Given the description of an element on the screen output the (x, y) to click on. 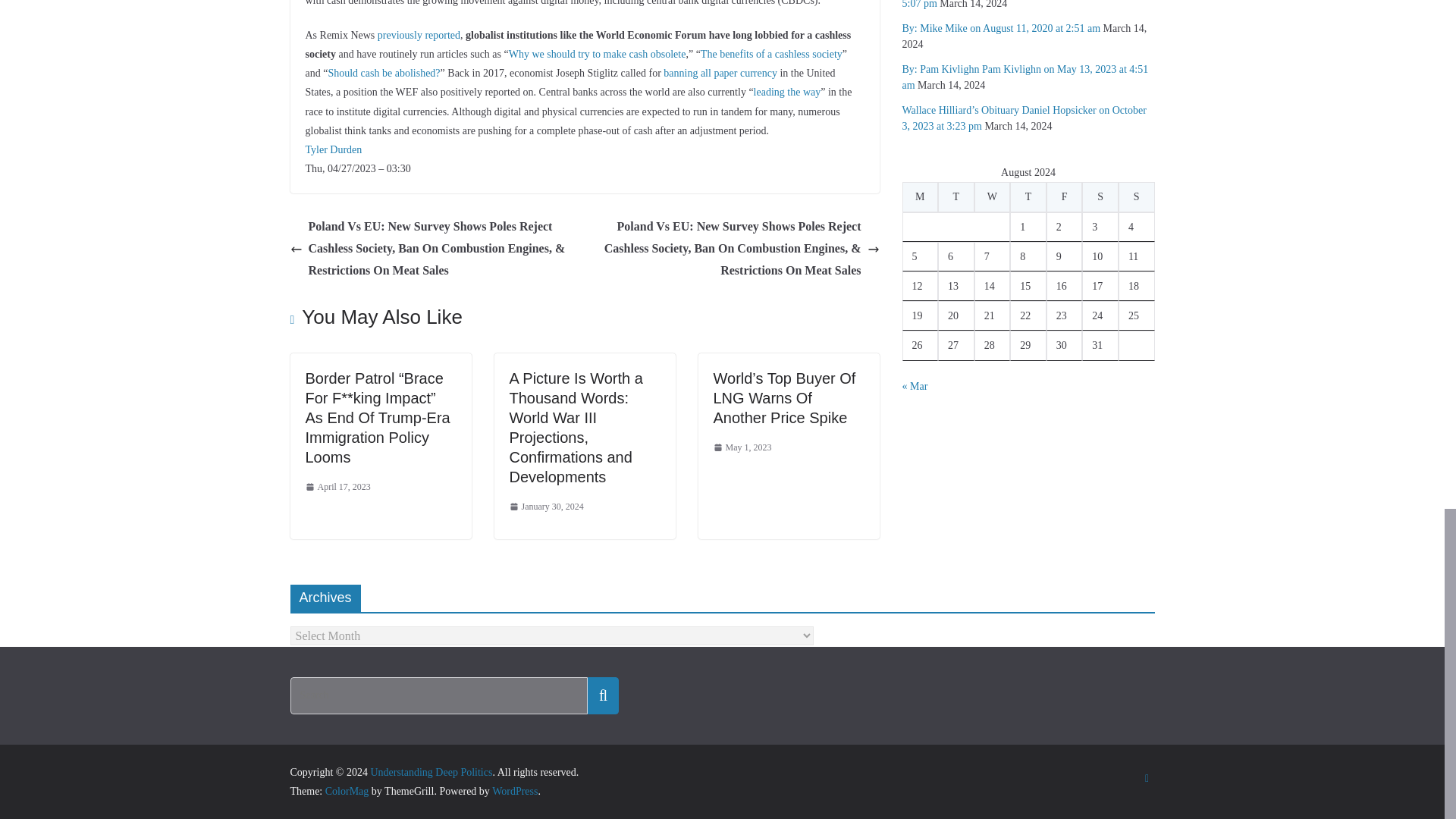
Tyler Durden (332, 149)
May 1, 2023 (742, 447)
leading the way (787, 91)
January 30, 2024 (546, 506)
The benefits of a cashless society (771, 53)
April 17, 2023 (336, 487)
Should cash be abolished? (383, 72)
banning all paper currency (720, 72)
